Given the description of an element on the screen output the (x, y) to click on. 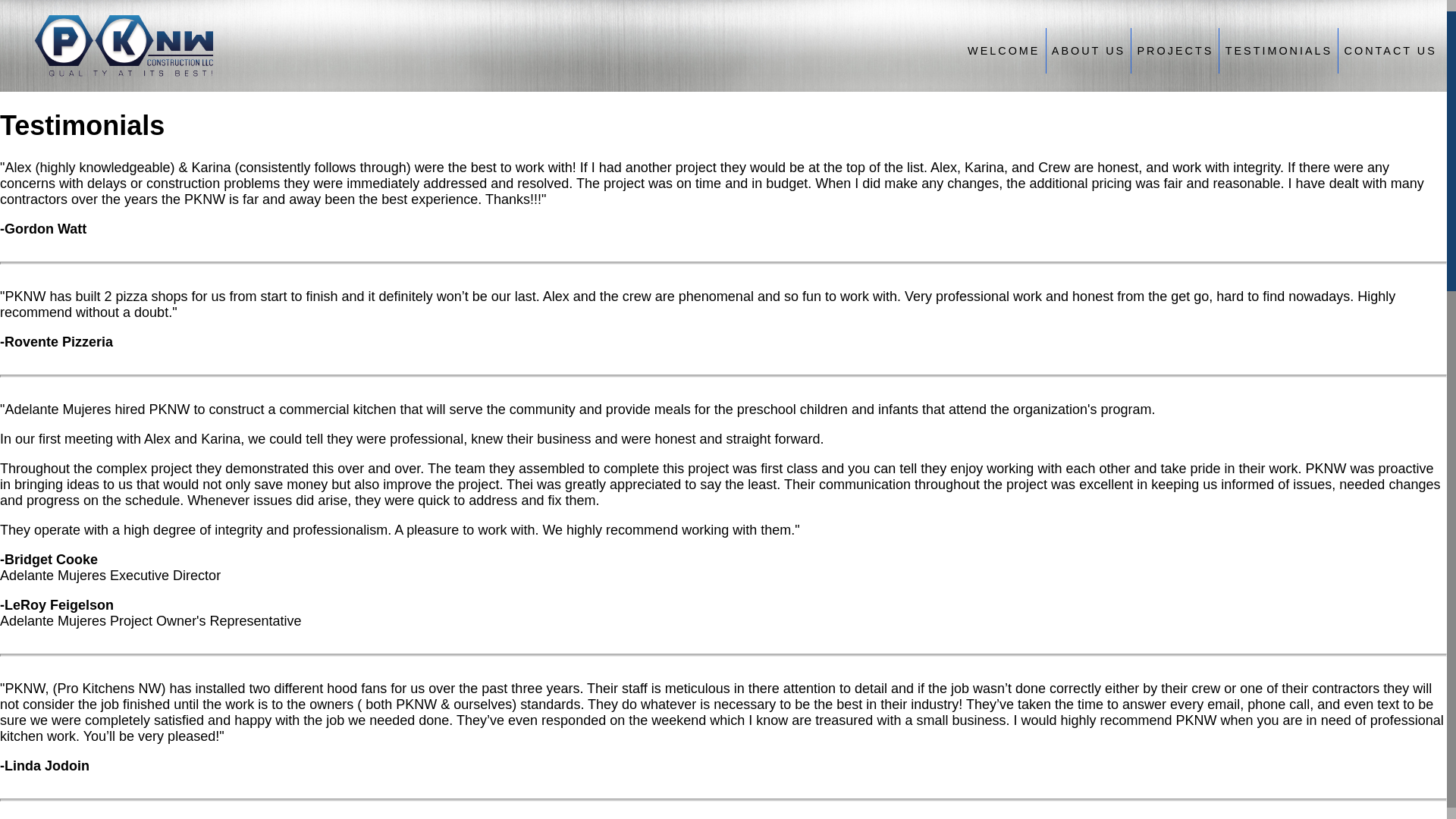
PROJECTS (1174, 46)
WELCOME (1003, 46)
CONTACT US (1390, 46)
TESTIMONIALS (1279, 46)
ABOUT US (1088, 46)
